Given the description of an element on the screen output the (x, y) to click on. 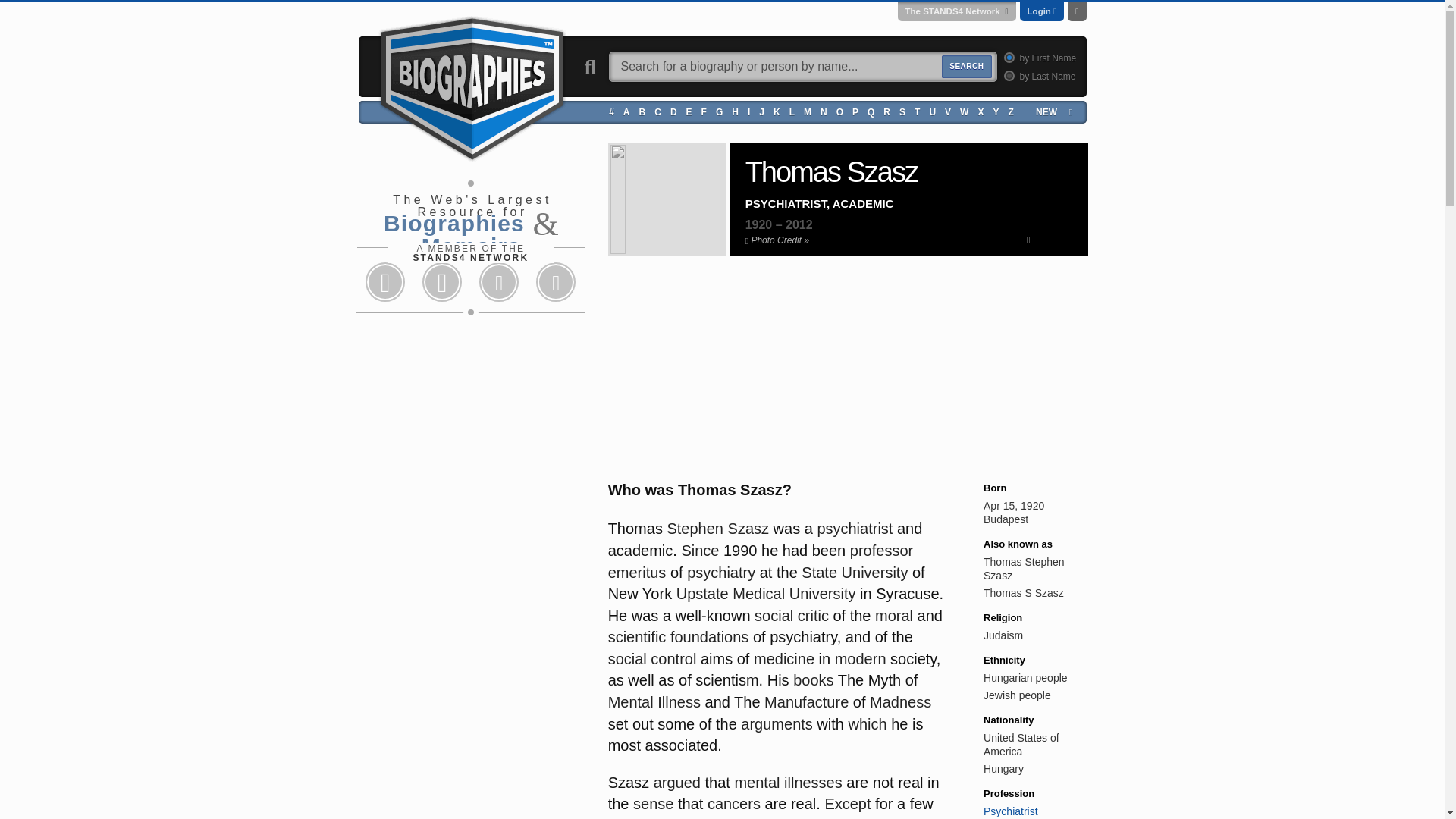
Thomas Szasz biography (685, 198)
Share this page on Facebook (384, 282)
Share this page on Reddit (498, 282)
Login (1039, 10)
SEARCH (966, 66)
Advertisement (721, 373)
Share this page on Twitter (441, 282)
Biographies.net (471, 86)
Share this page with AddToAny (556, 282)
2 (1007, 75)
